Given the description of an element on the screen output the (x, y) to click on. 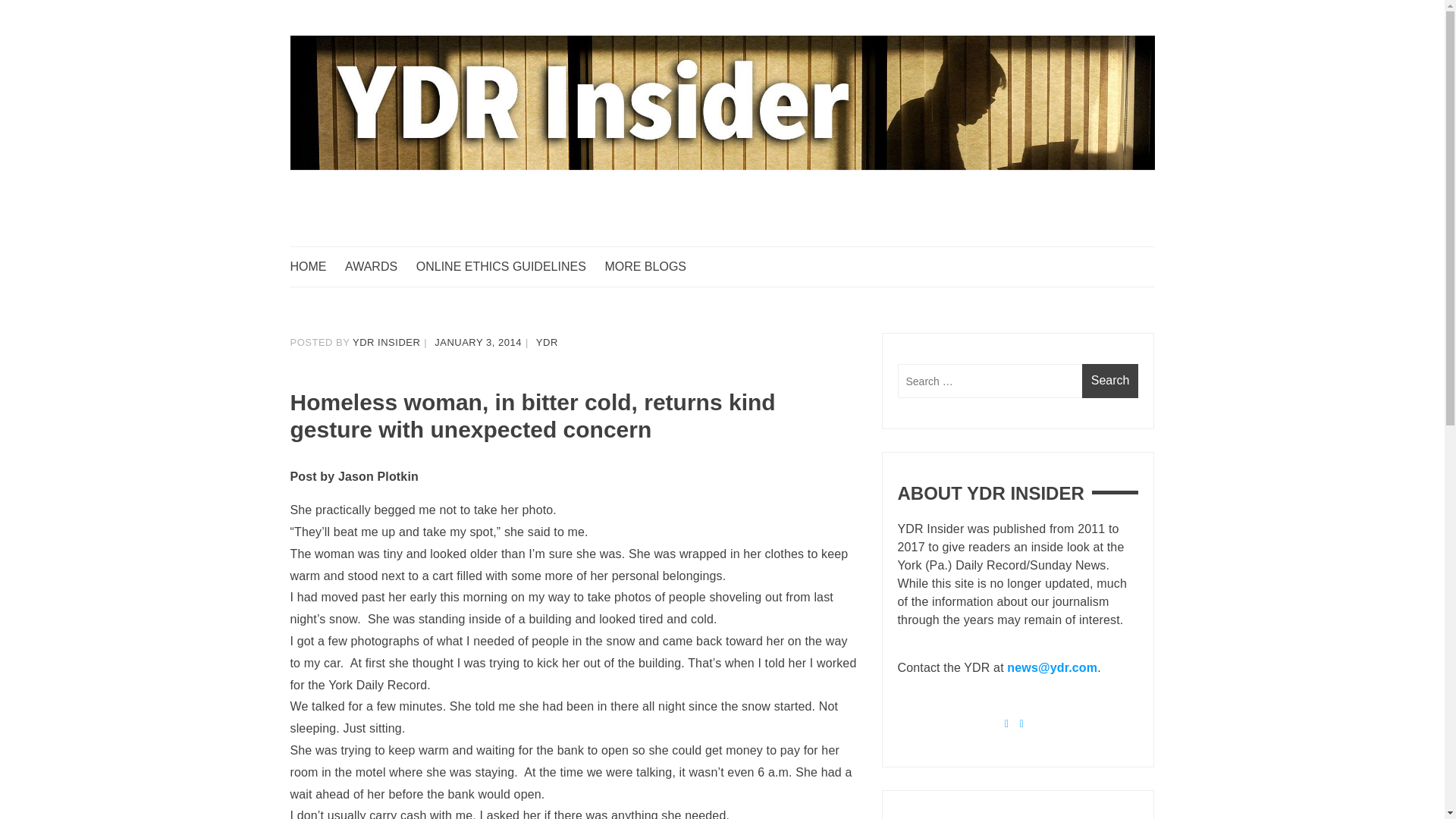
HOME (314, 266)
YDR INSIDER (386, 342)
YDR (546, 342)
JANUARY 3, 2014 (477, 342)
Search (1109, 380)
ONLINE ETHICS GUIDELINES (508, 266)
MORE BLOGS (652, 266)
AWARDS (378, 266)
YDR Insider (357, 275)
Search (1109, 380)
Search (1109, 380)
